Given the description of an element on the screen output the (x, y) to click on. 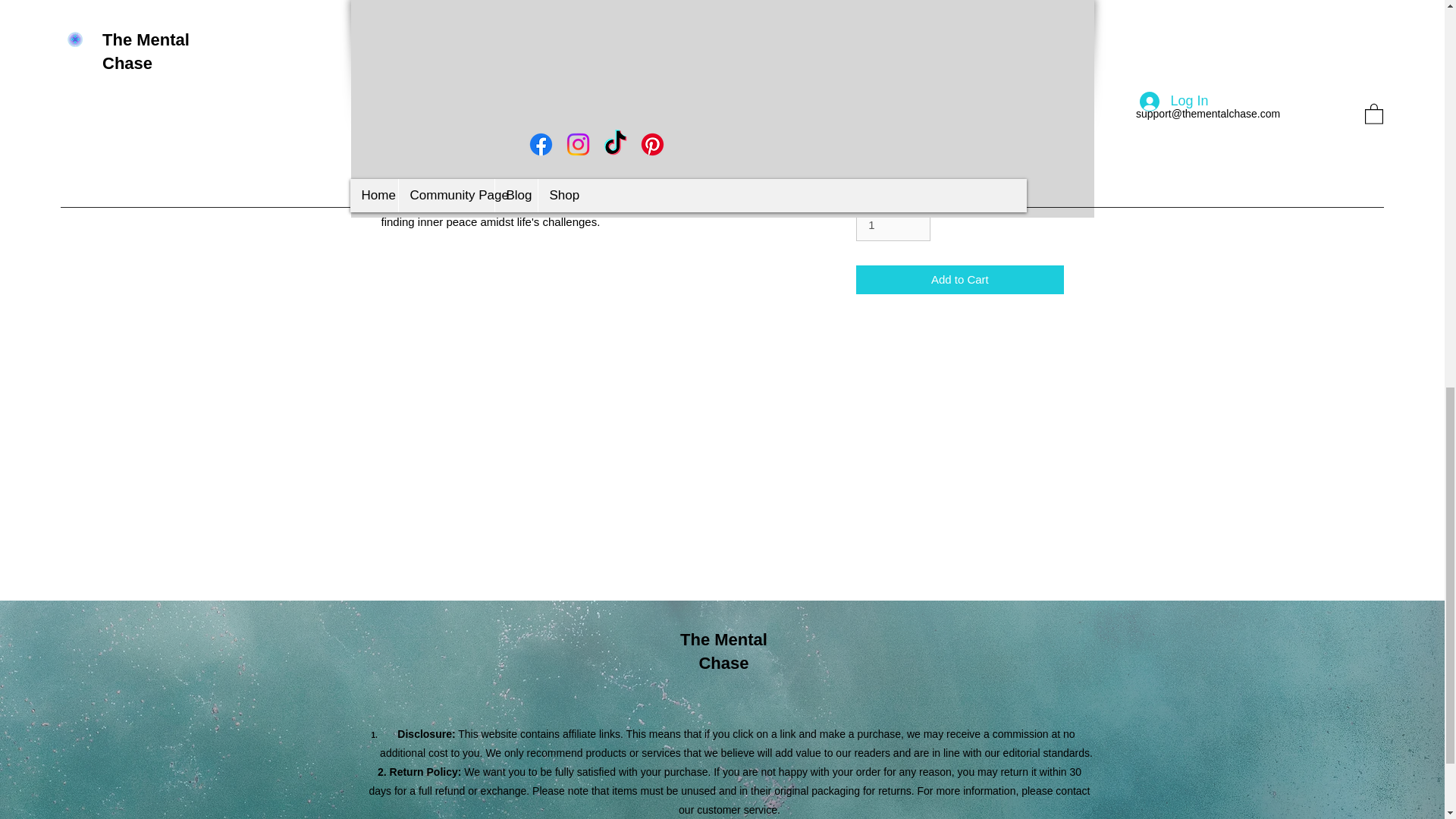
Add to Cart (959, 279)
1 (893, 224)
Select (959, 150)
The Mental Chase (723, 650)
